Given the description of an element on the screen output the (x, y) to click on. 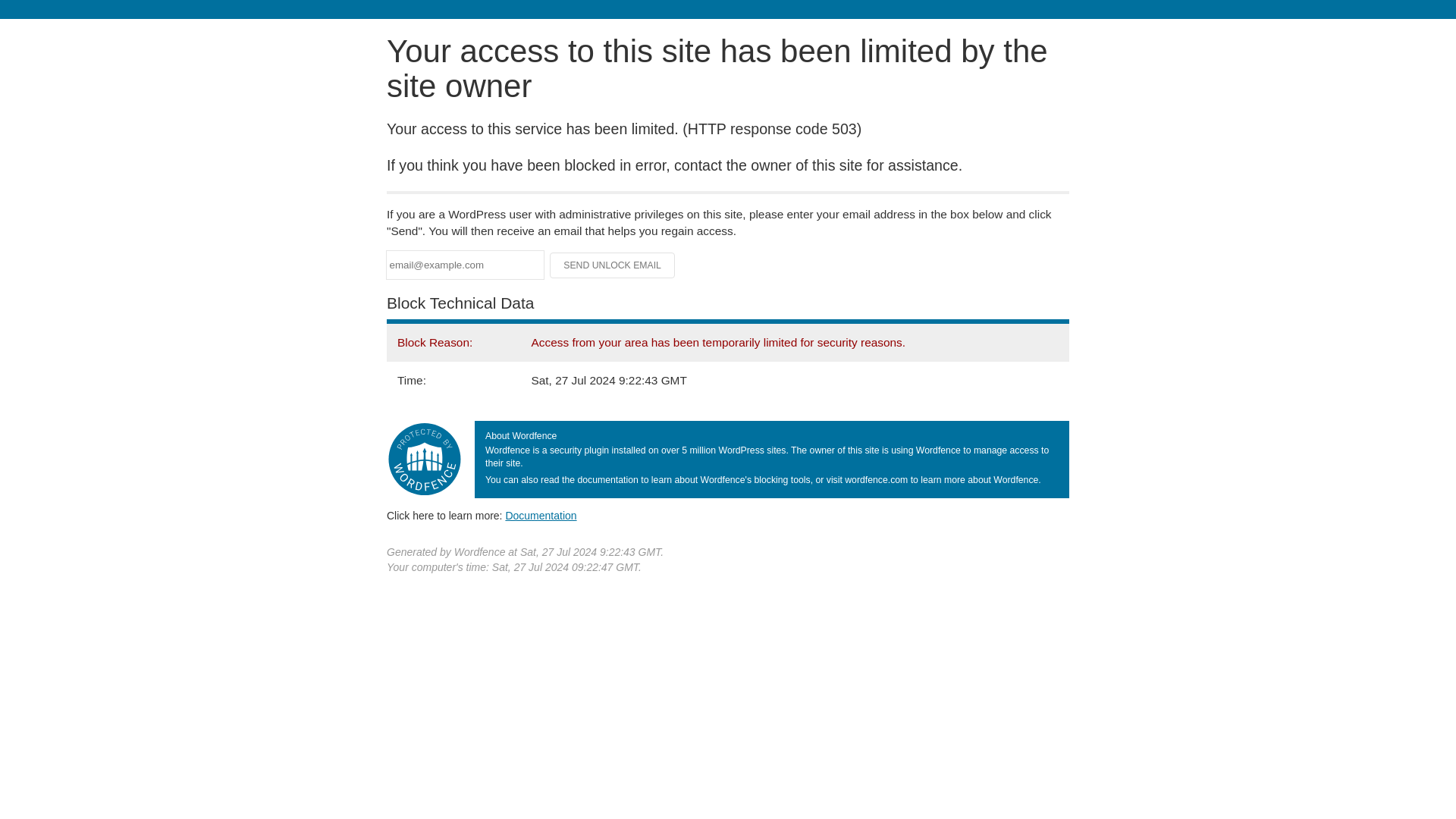
Documentation (540, 515)
Send Unlock Email (612, 265)
Send Unlock Email (612, 265)
